Given the description of an element on the screen output the (x, y) to click on. 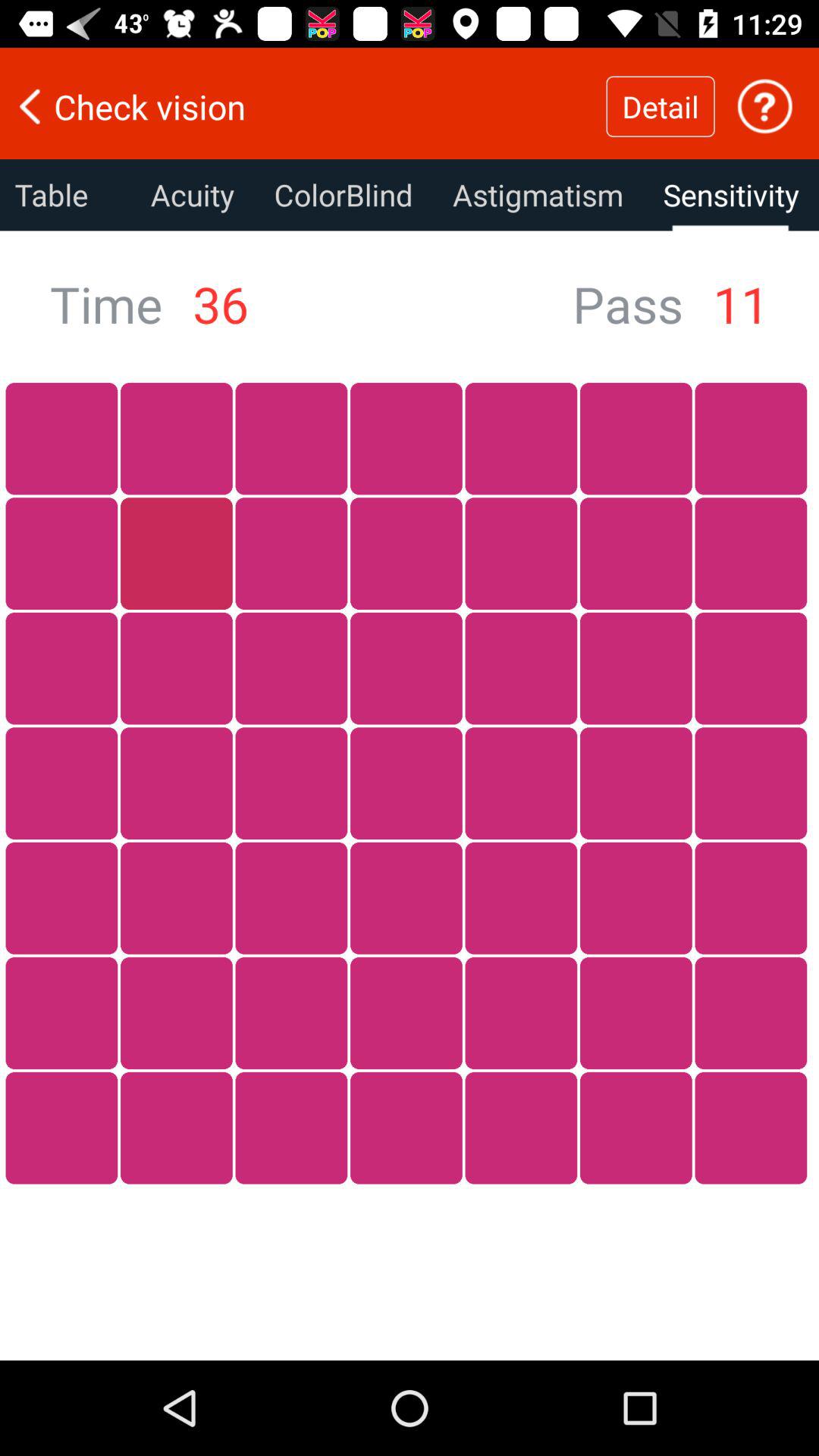
select item above the time (65, 194)
